Given the description of an element on the screen output the (x, y) to click on. 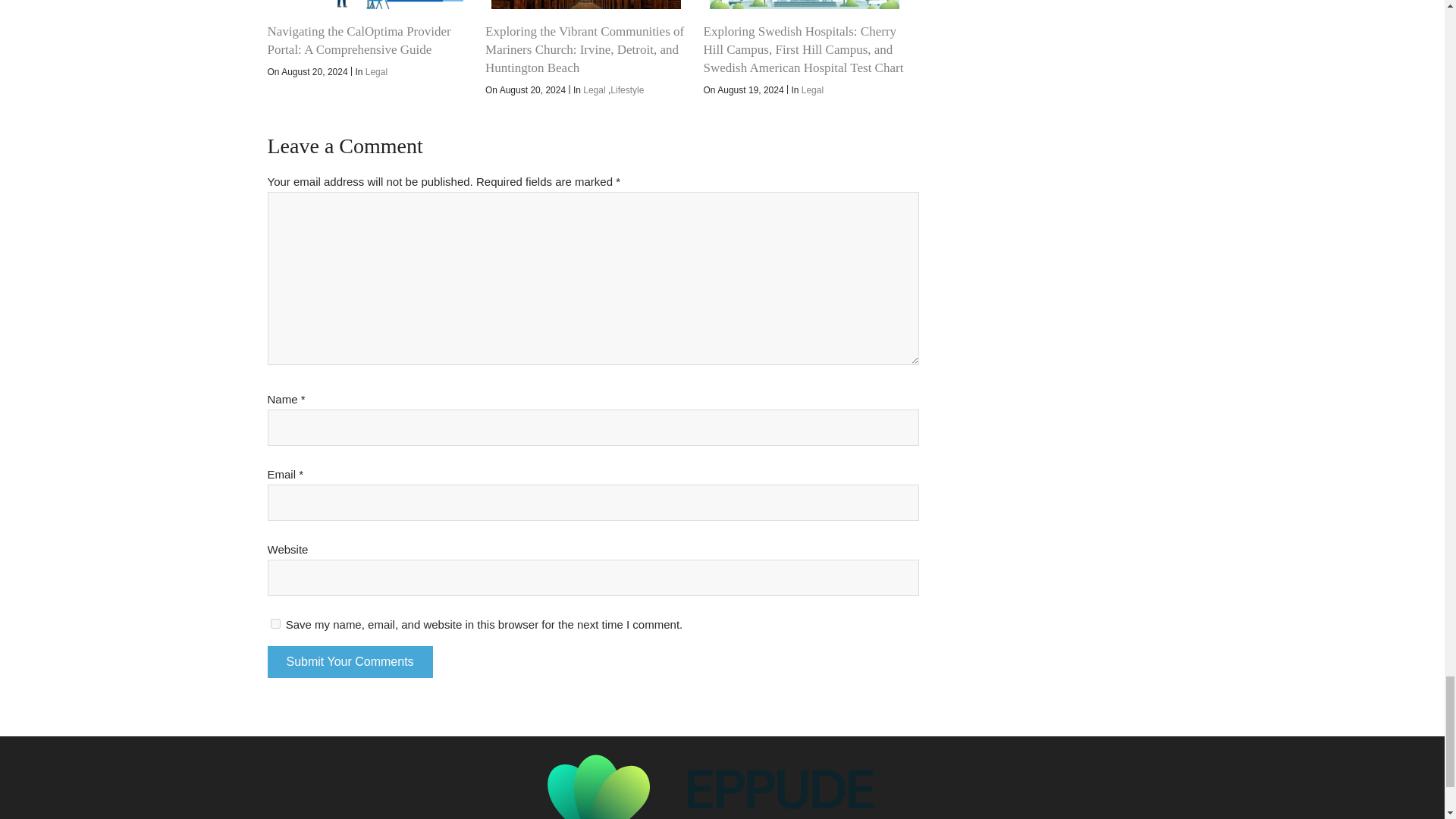
Legal (813, 90)
Legal (376, 71)
Submit Your Comments (349, 662)
yes (274, 623)
Eppude (721, 770)
Submit Your Comments (349, 662)
Legal (594, 90)
